Given the description of an element on the screen output the (x, y) to click on. 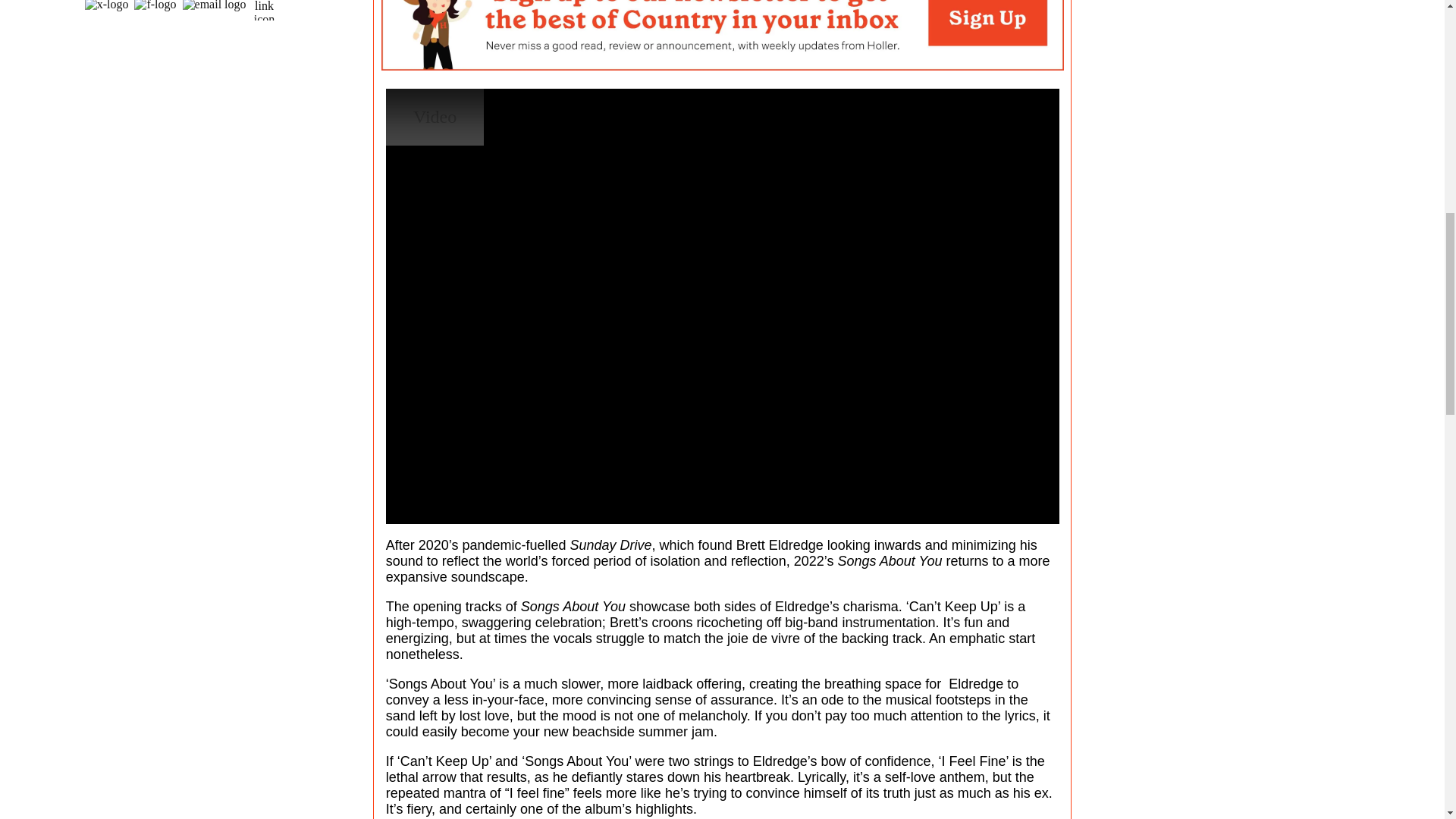
Video (434, 116)
